Given the description of an element on the screen output the (x, y) to click on. 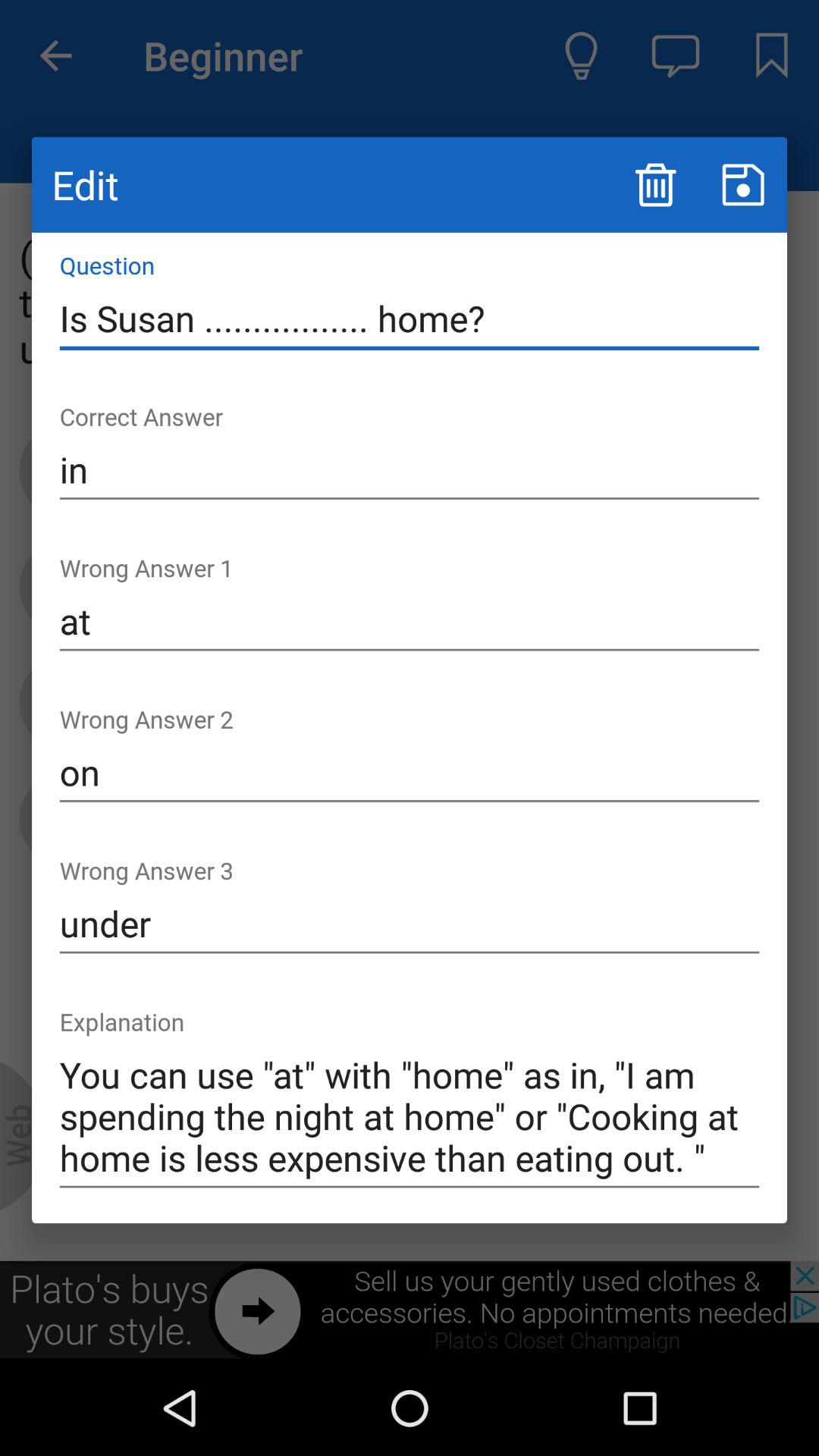
press the icon above is susan ................. home?  item (743, 184)
